Given the description of an element on the screen output the (x, y) to click on. 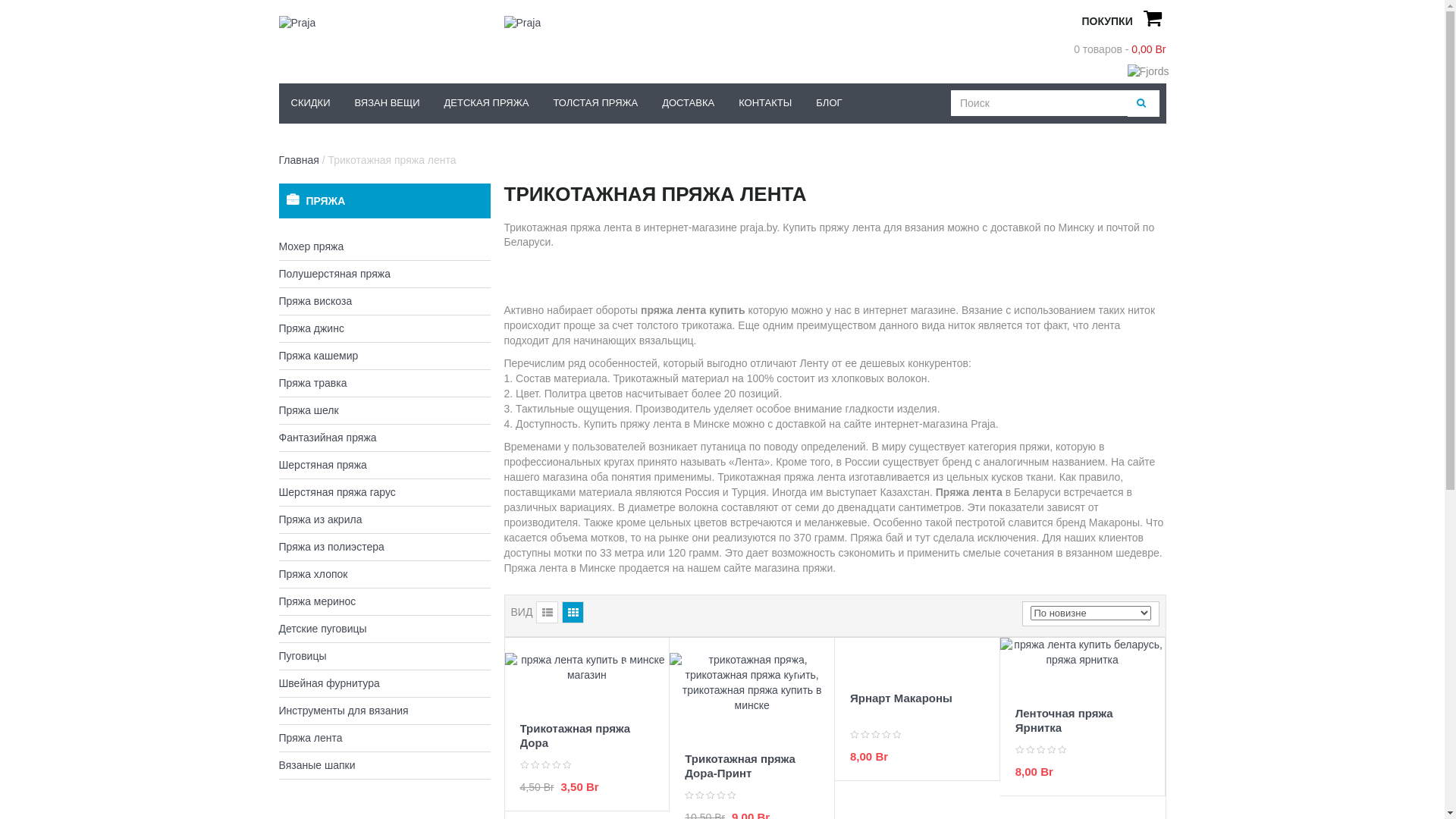
List Element type: text (547, 612)
-% Element type: text (751, 701)
-% Element type: text (587, 678)
Grid Element type: text (572, 612)
